Given the description of an element on the screen output the (x, y) to click on. 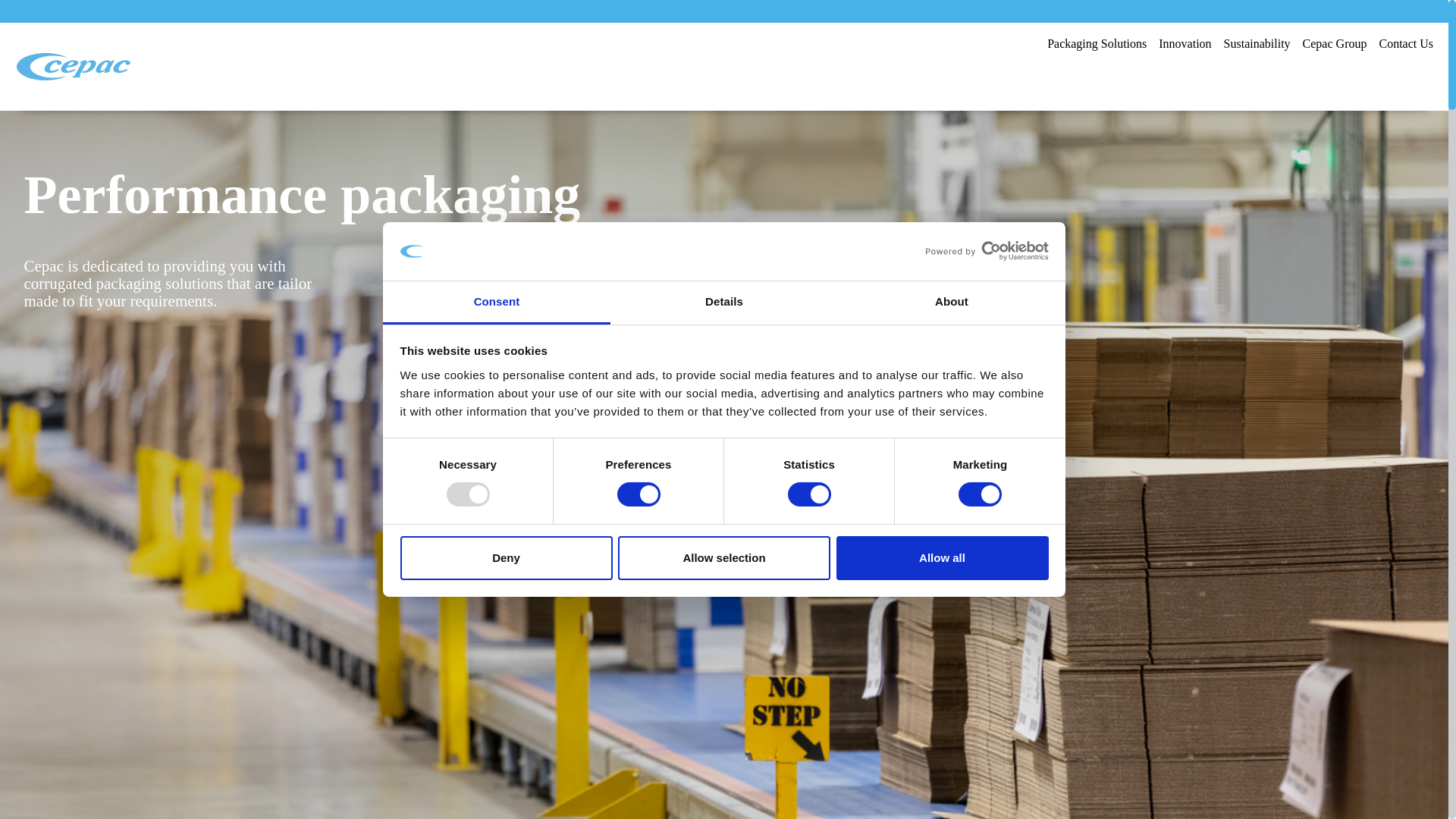
Allow selection (723, 557)
Consent (496, 302)
Allow all (941, 557)
Details (724, 302)
Deny (506, 557)
About (951, 302)
Packaging Solutions (1097, 43)
